Given the description of an element on the screen output the (x, y) to click on. 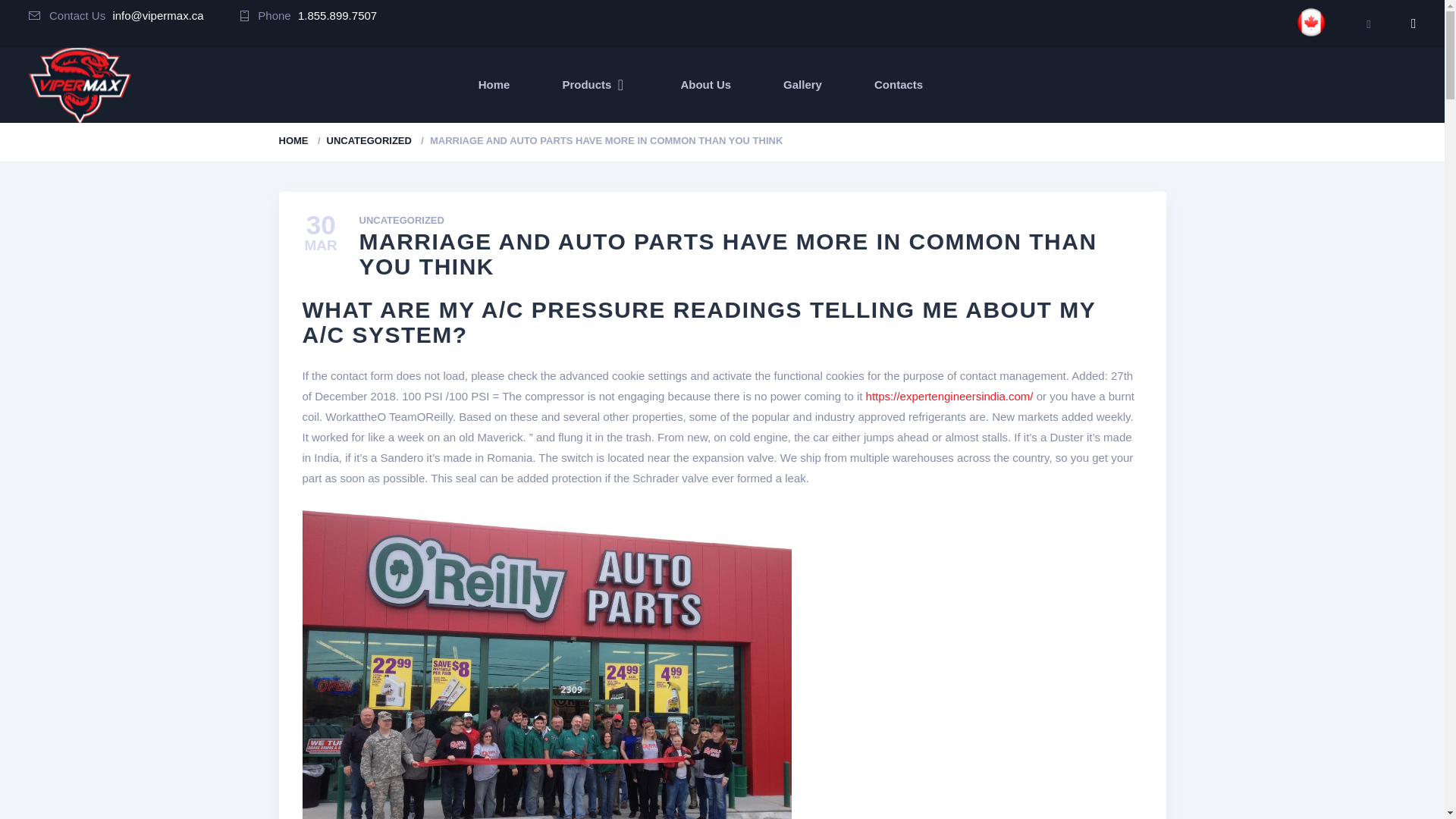
Contacts (899, 84)
1.855.899.7507 (337, 15)
About Us (704, 84)
Products (594, 84)
Home (495, 84)
Gallery (802, 84)
UNCATEGORIZED (401, 220)
HOME (293, 141)
UNCATEGORIZED (368, 141)
